Given the description of an element on the screen output the (x, y) to click on. 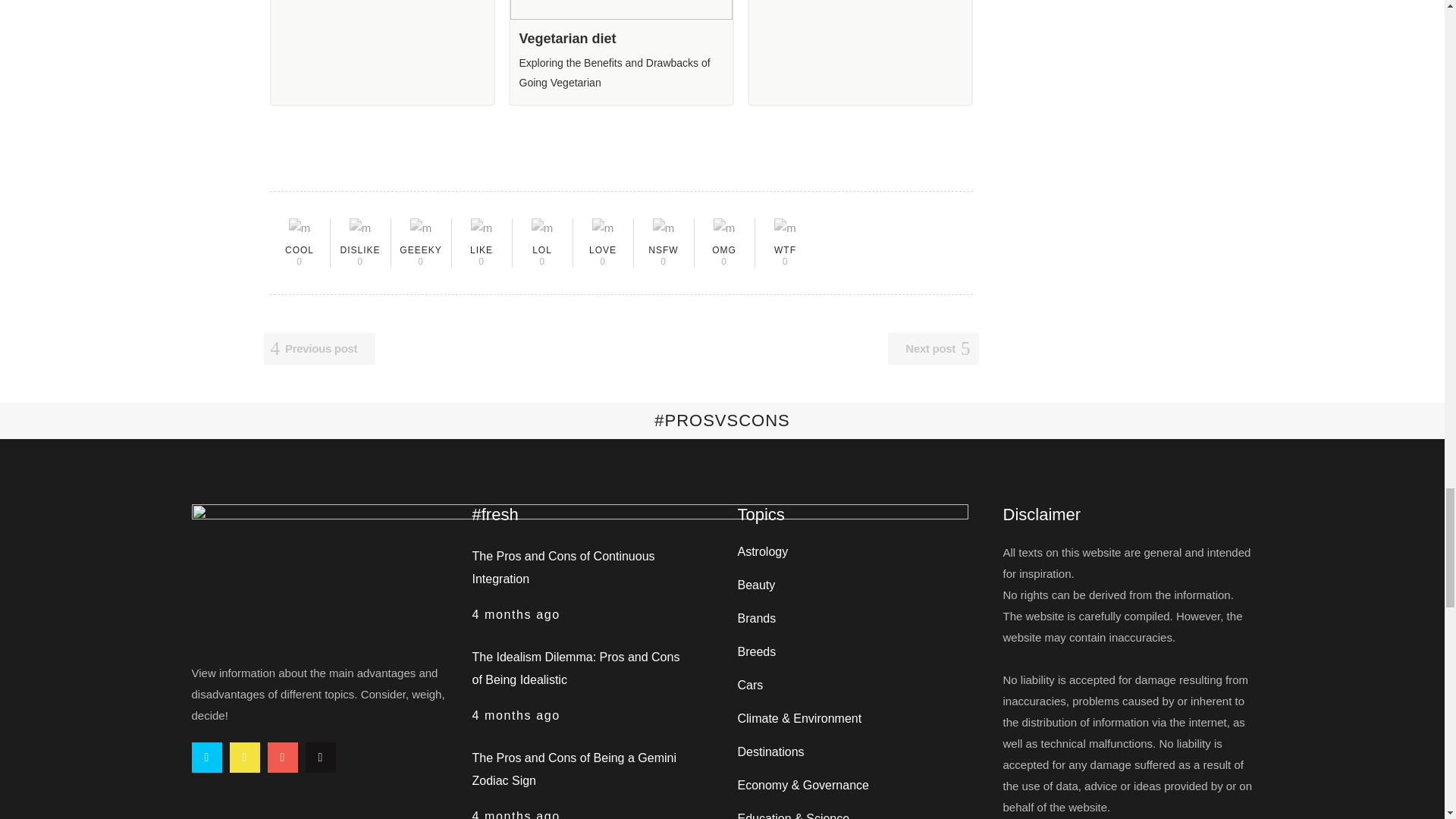
The Pros and Cons of Being a Gemini Zodiac Sign (573, 769)
The Idealism Dilemma: Pros and Cons of Being Idealistic (575, 668)
The Pros and Cons of Continuous Integration (562, 567)
